Given the description of an element on the screen output the (x, y) to click on. 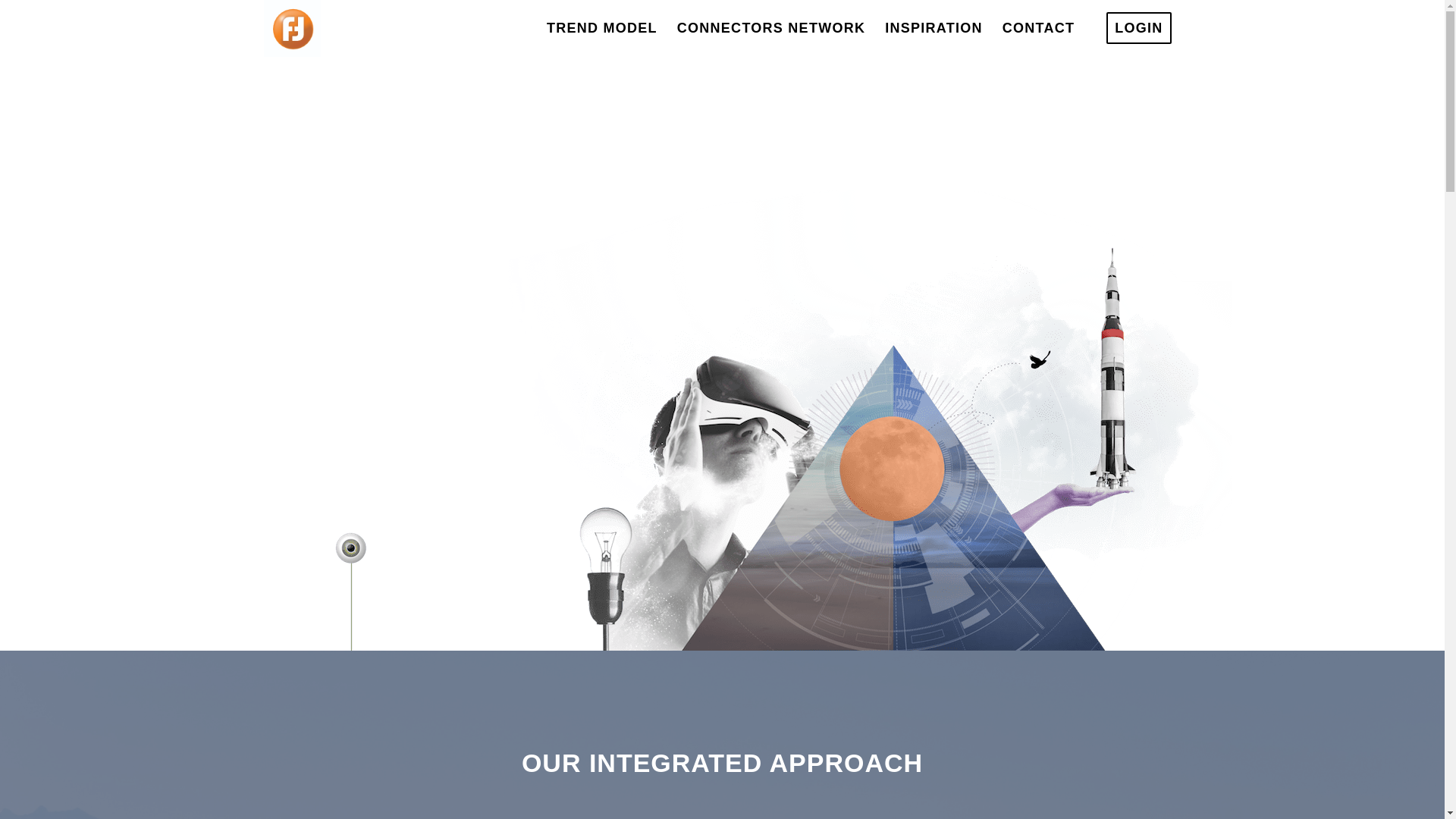
TREND MODEL (601, 28)
CONNECTORS NETWORK (770, 28)
LOGIN (1138, 28)
CONTACT (1038, 28)
INSPIRATION (933, 28)
